Given the description of an element on the screen output the (x, y) to click on. 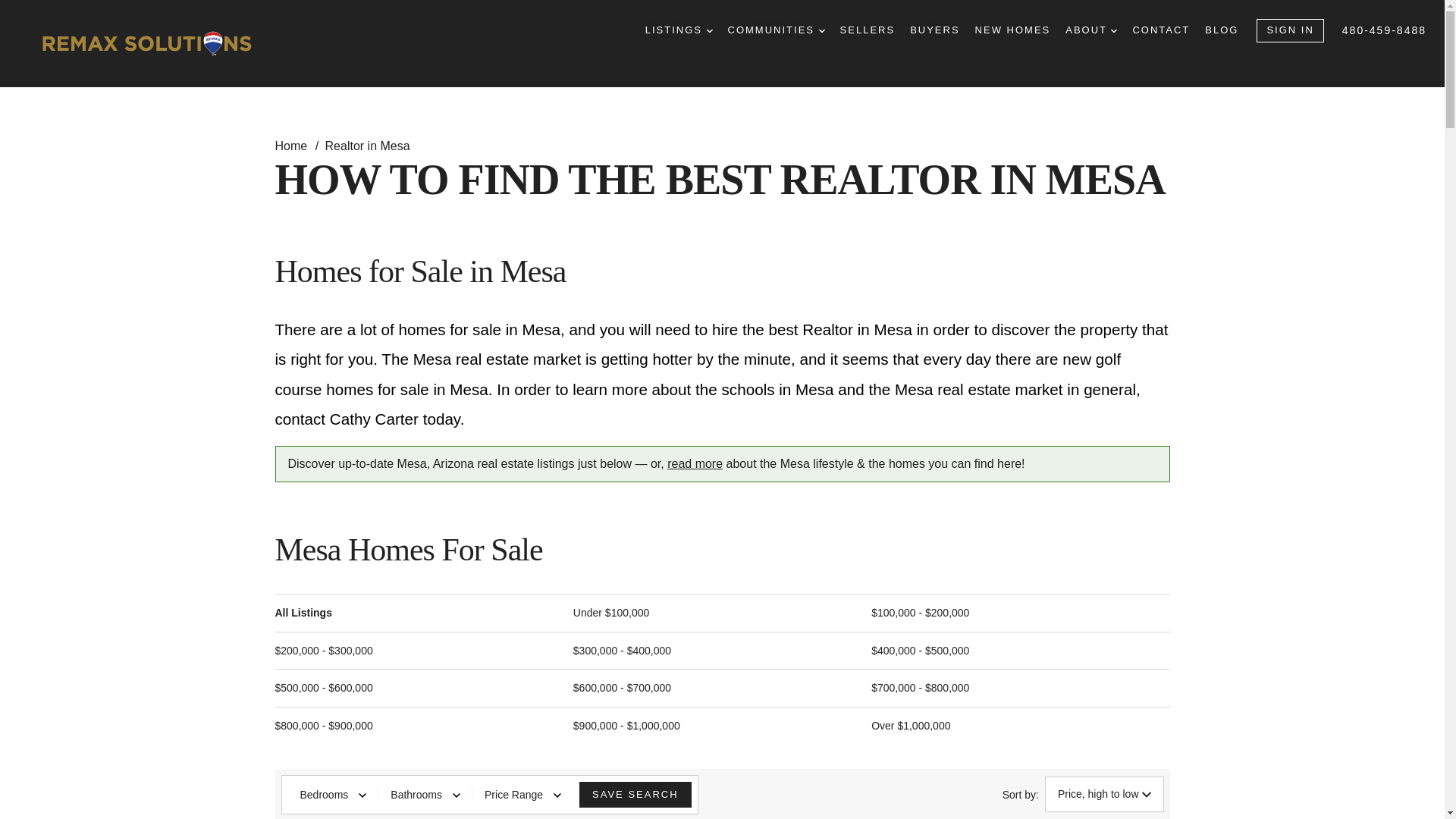
SELLERS (867, 30)
COMMUNITIES DROPDOWN ARROW (776, 30)
DROPDOWN ARROW (821, 30)
DROPDOWN ARROW (709, 30)
BUYERS (934, 30)
LISTINGS DROPDOWN ARROW (679, 30)
480-459-8488 (1384, 29)
NEW HOMES (1013, 30)
BLOG (1222, 30)
DROPDOWN ARROW (1113, 30)
Realtor in Mesa (367, 145)
CONTACT (1160, 30)
ABOUT DROPDOWN ARROW (1090, 30)
SIGN IN (1289, 30)
Home (292, 145)
